Given the description of an element on the screen output the (x, y) to click on. 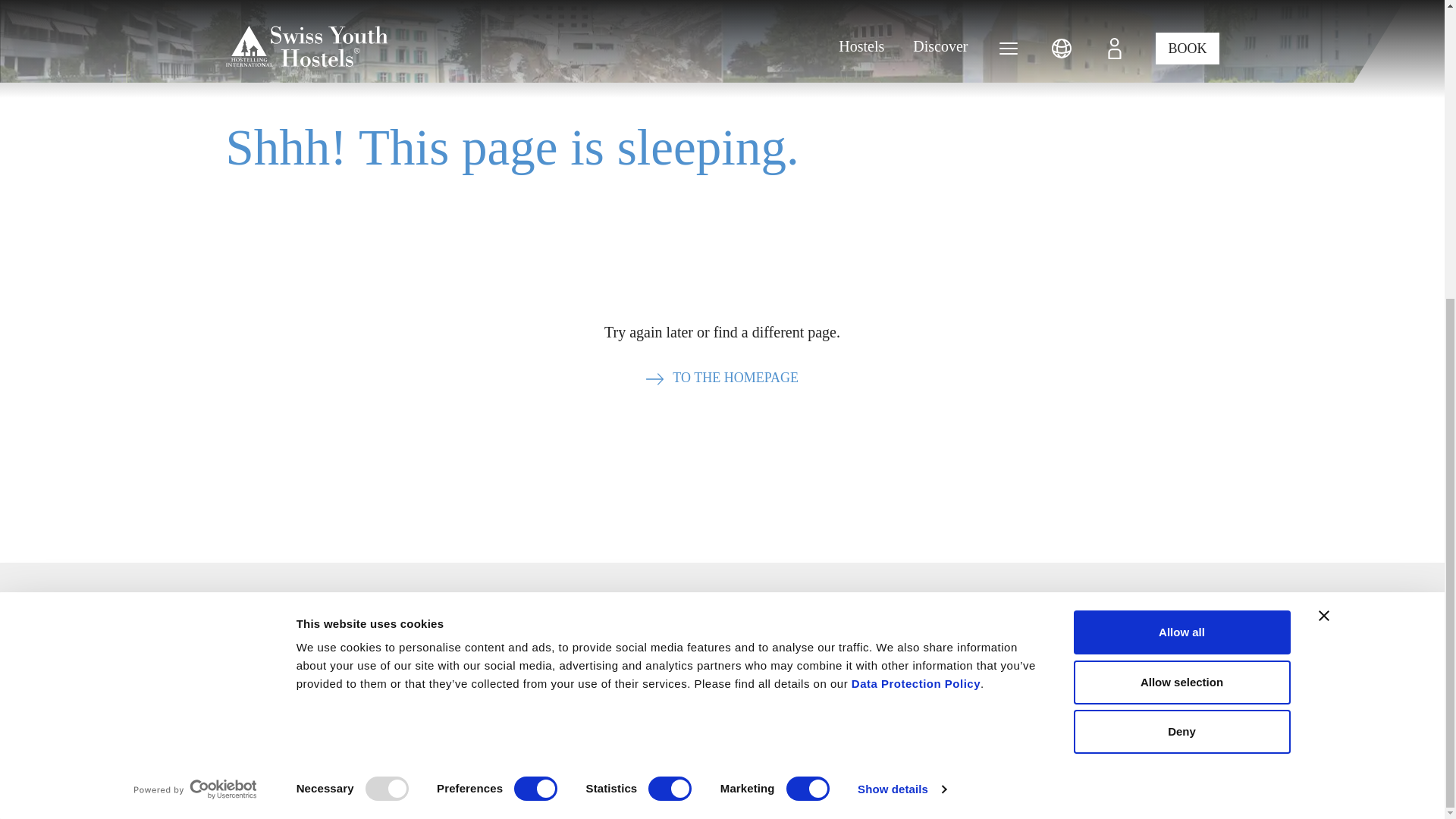
Allow all (1182, 168)
Data Protection Policy (915, 219)
Deny (1182, 268)
Allow selection (1182, 218)
Show details (900, 325)
